Given the description of an element on the screen output the (x, y) to click on. 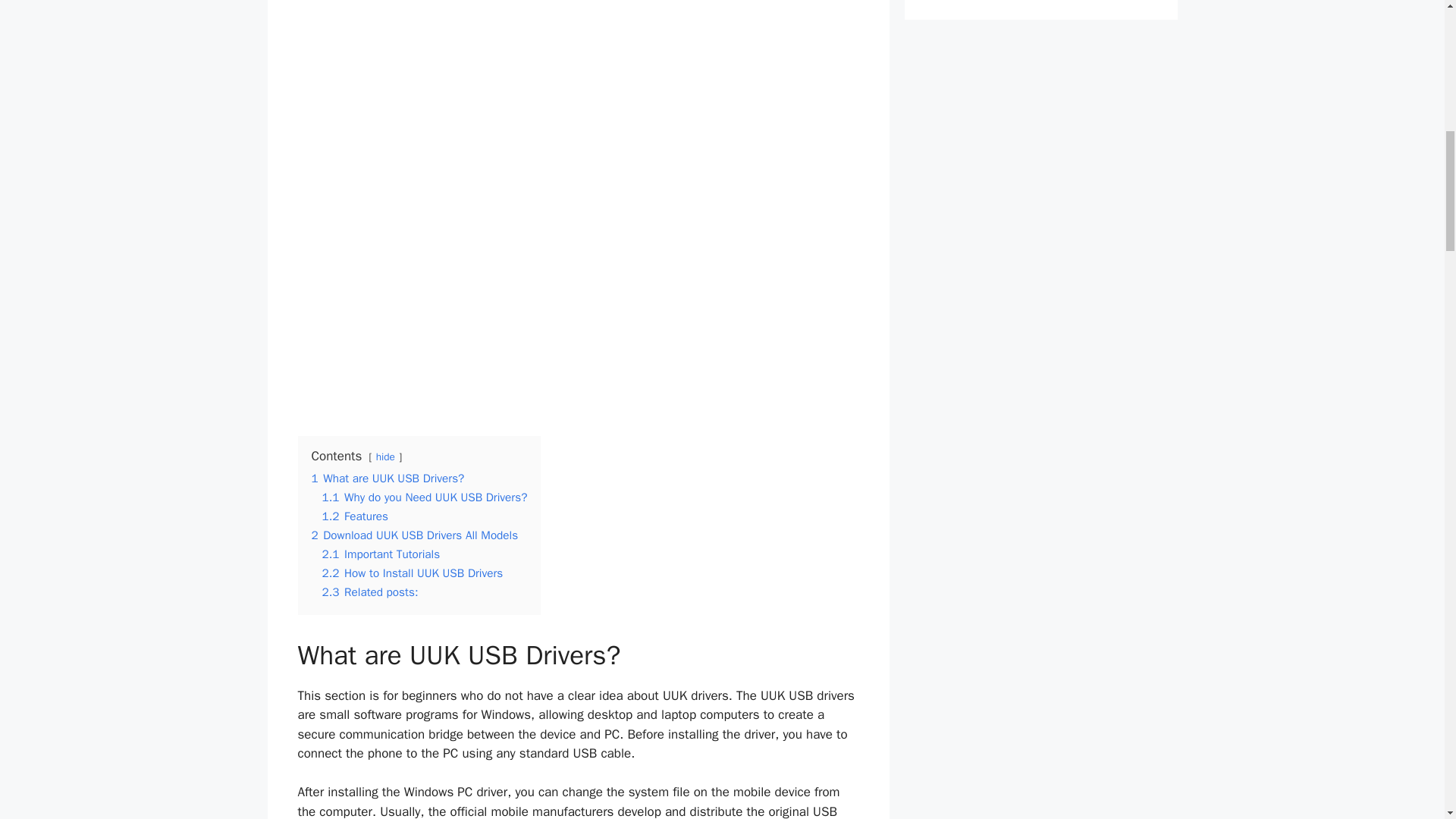
1.2 Features (354, 516)
1.1 Why do you Need UUK USB Drivers? (424, 497)
1 What are UUK USB Drivers? (387, 478)
2.3 Related posts: (369, 591)
2 Download UUK USB Drivers All Models (414, 534)
2.1 Important Tutorials (380, 554)
hide (384, 456)
2.2 How to Install UUK USB Drivers (411, 572)
